Given the description of an element on the screen output the (x, y) to click on. 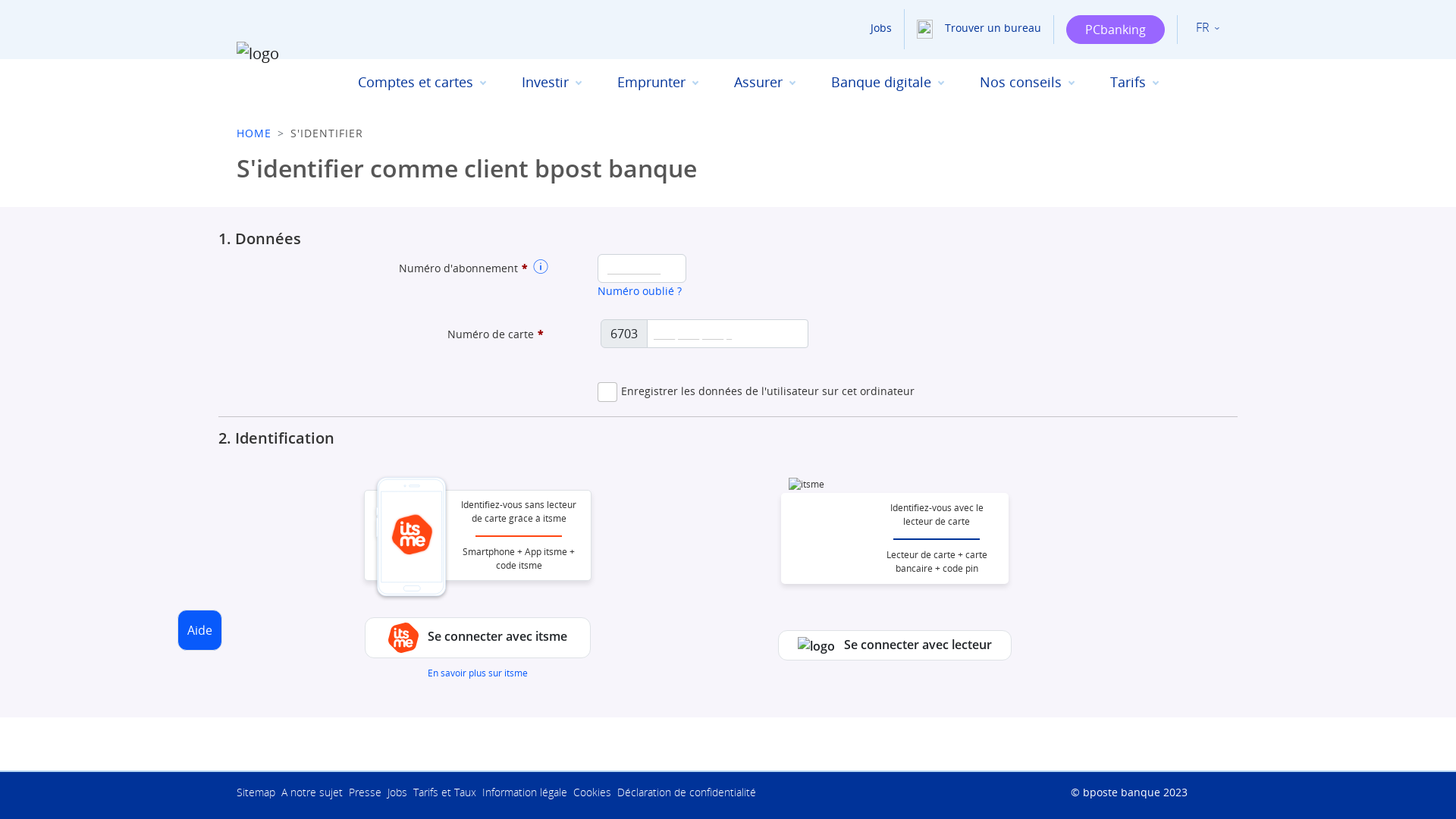
Se connecter avec lecteur Element type: text (894, 645)
PCbanking Element type: text (1115, 29)
A notre sujet Element type: text (314, 791)
PCbanking Element type: text (1115, 29)
Banque digitale Element type: text (886, 82)
Jobs Element type: text (862, 27)
Comptes et cartes Element type: text (421, 82)
FR Element type: text (1207, 27)
Se connecter avec itsme Element type: text (477, 637)
Assurer Element type: text (763, 82)
Sitemap Element type: text (258, 791)
HOME Element type: text (253, 132)
Trouver un bureau Element type: text (972, 27)
Nos conseils Element type: text (1026, 82)
Tarifs et Taux Element type: text (447, 791)
Presse Element type: text (367, 791)
En savoir plus sur itsme Element type: text (477, 672)
Aide Element type: text (199, 629)
bpost Element type: text (748, 672)
Cookies Element type: text (595, 791)
Investir Element type: text (551, 82)
Emprunter Element type: text (657, 82)
Tarifs Element type: text (1134, 82)
Jobs Element type: text (400, 791)
